Given the description of an element on the screen output the (x, y) to click on. 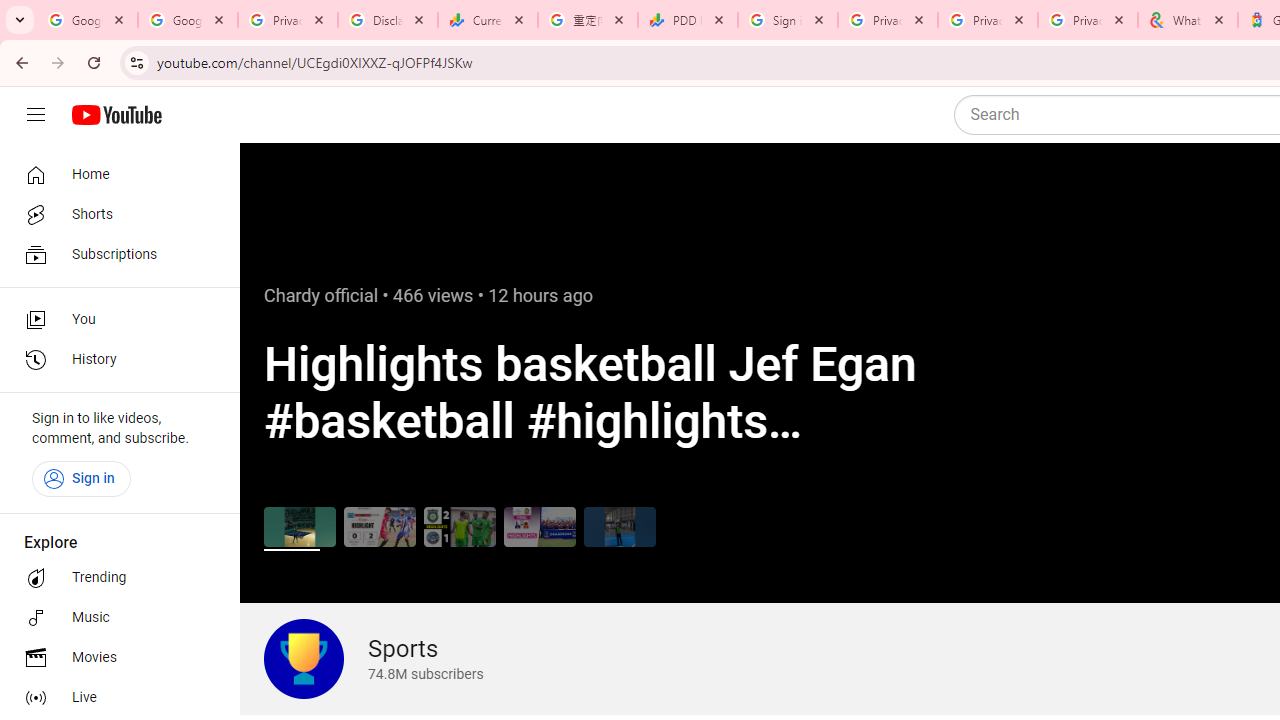
Shorts (113, 214)
History (113, 359)
YouTube Home (116, 115)
Sports 74.8 million subscribers (373, 659)
Home (113, 174)
Trending (113, 578)
Bidanasi Club vs Sports Odisha | Match Highlights (380, 526)
